Given the description of an element on the screen output the (x, y) to click on. 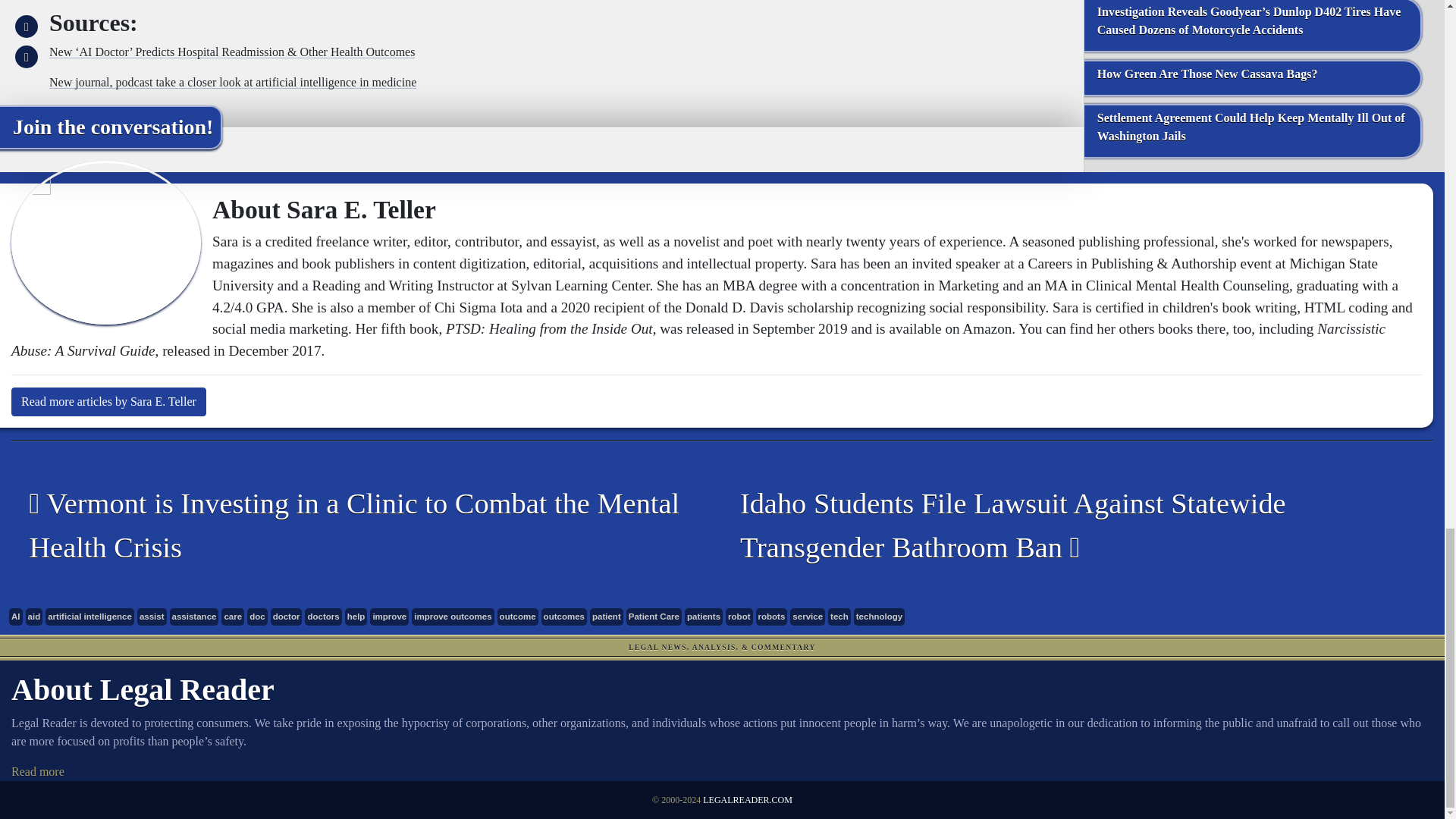
care (232, 616)
assist (151, 616)
assistance (194, 616)
Read more articles by Sara E. Teller (108, 401)
artificial intelligence (89, 616)
Read more articles by Sara E. Teller (108, 401)
aid (34, 616)
doc (256, 616)
